Given the description of an element on the screen output the (x, y) to click on. 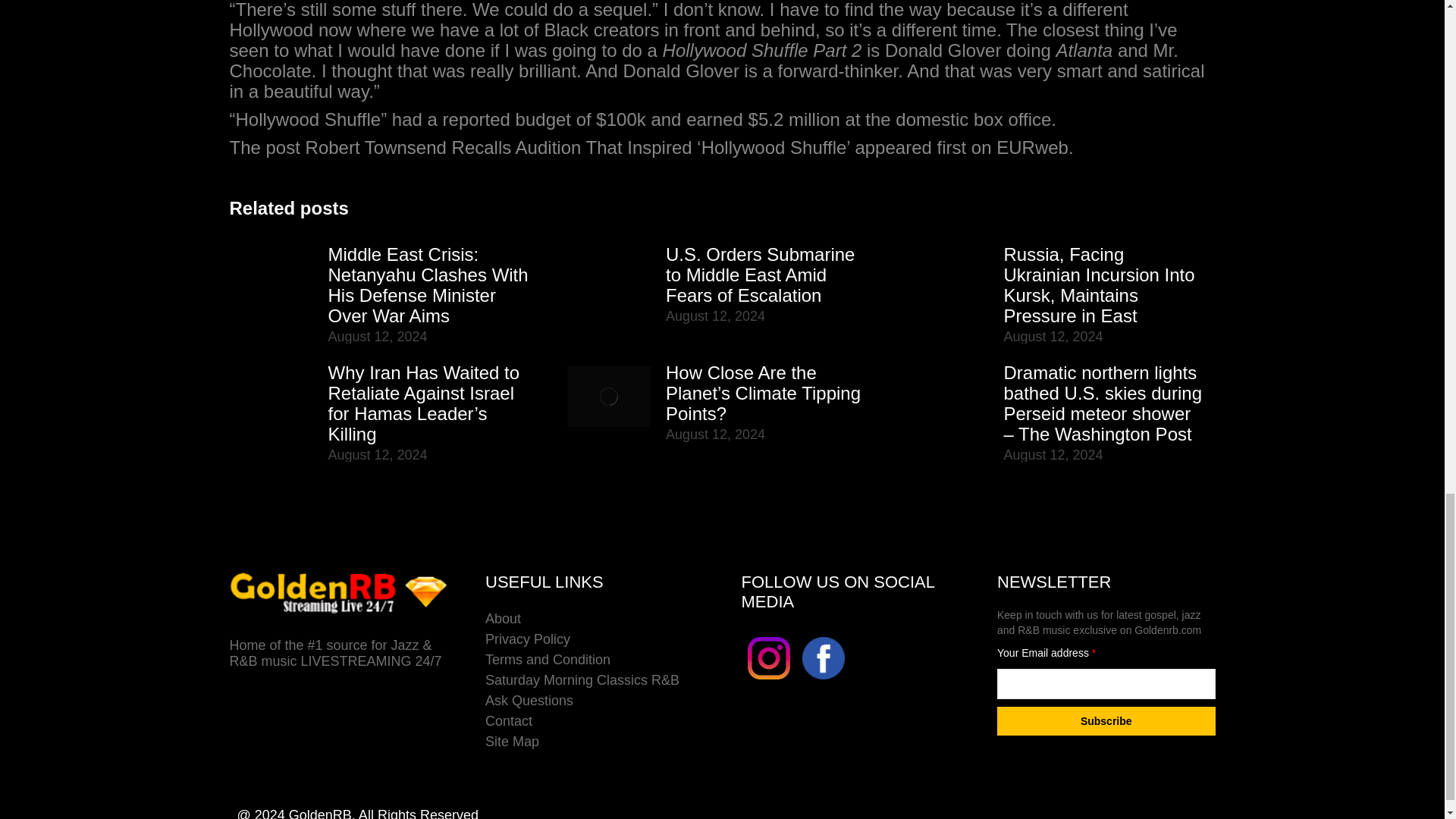
Subscribe (1106, 720)
Instagram (769, 658)
Facebook (823, 658)
Facebook (823, 680)
Instagram (768, 680)
